Given the description of an element on the screen output the (x, y) to click on. 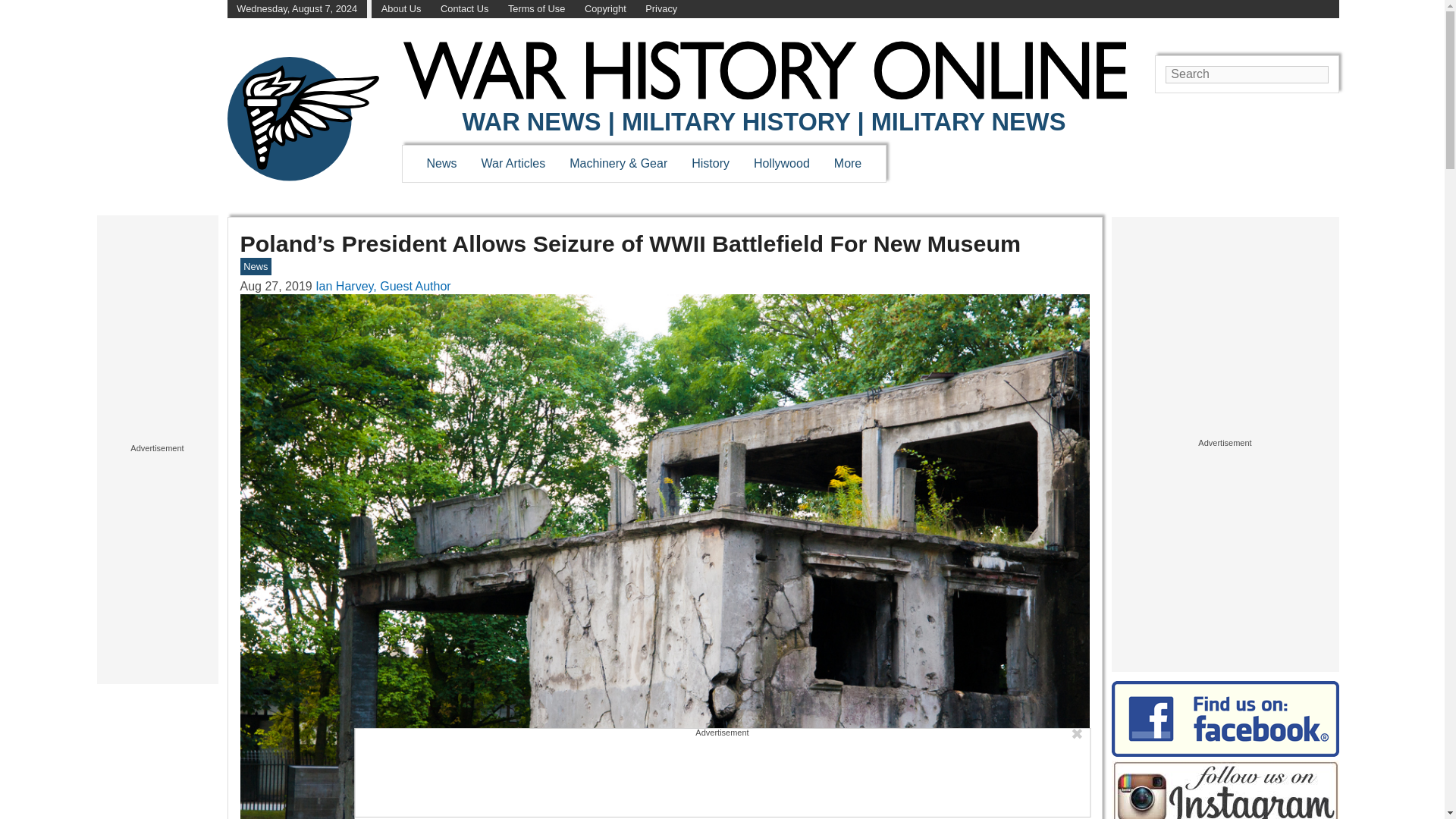
About Us (401, 8)
Hollywood (781, 163)
News (441, 163)
Privacy (661, 8)
Terms of Use (536, 8)
History (710, 163)
War Articles (513, 163)
Contact Us (464, 8)
Copyright (605, 8)
More (847, 163)
